Given the description of an element on the screen output the (x, y) to click on. 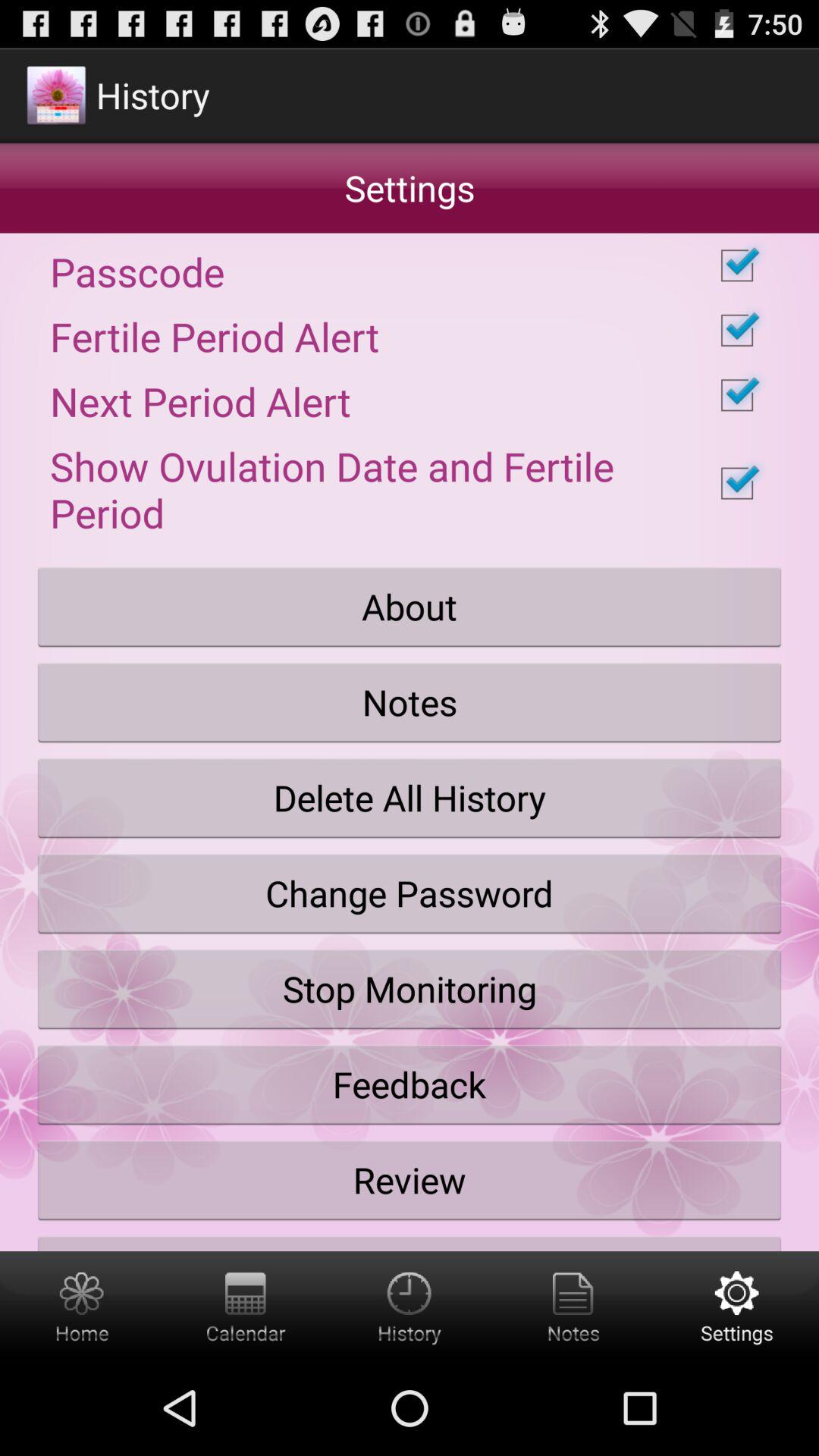
open the notes (409, 702)
